Given the description of an element on the screen output the (x, y) to click on. 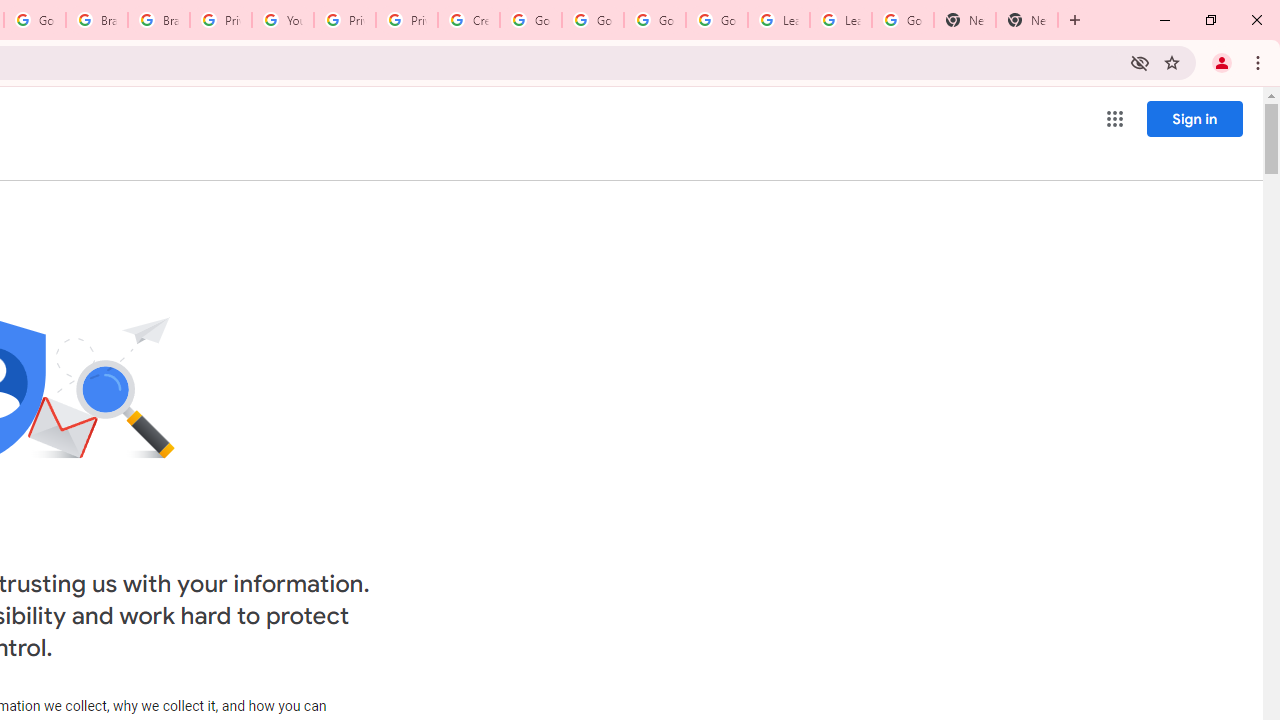
Brand Resource Center (96, 20)
Google Account Help (716, 20)
New Tab (964, 20)
Brand Resource Center (158, 20)
Google Account Help (592, 20)
Google Account Help (530, 20)
Create your Google Account (468, 20)
